Given the description of an element on the screen output the (x, y) to click on. 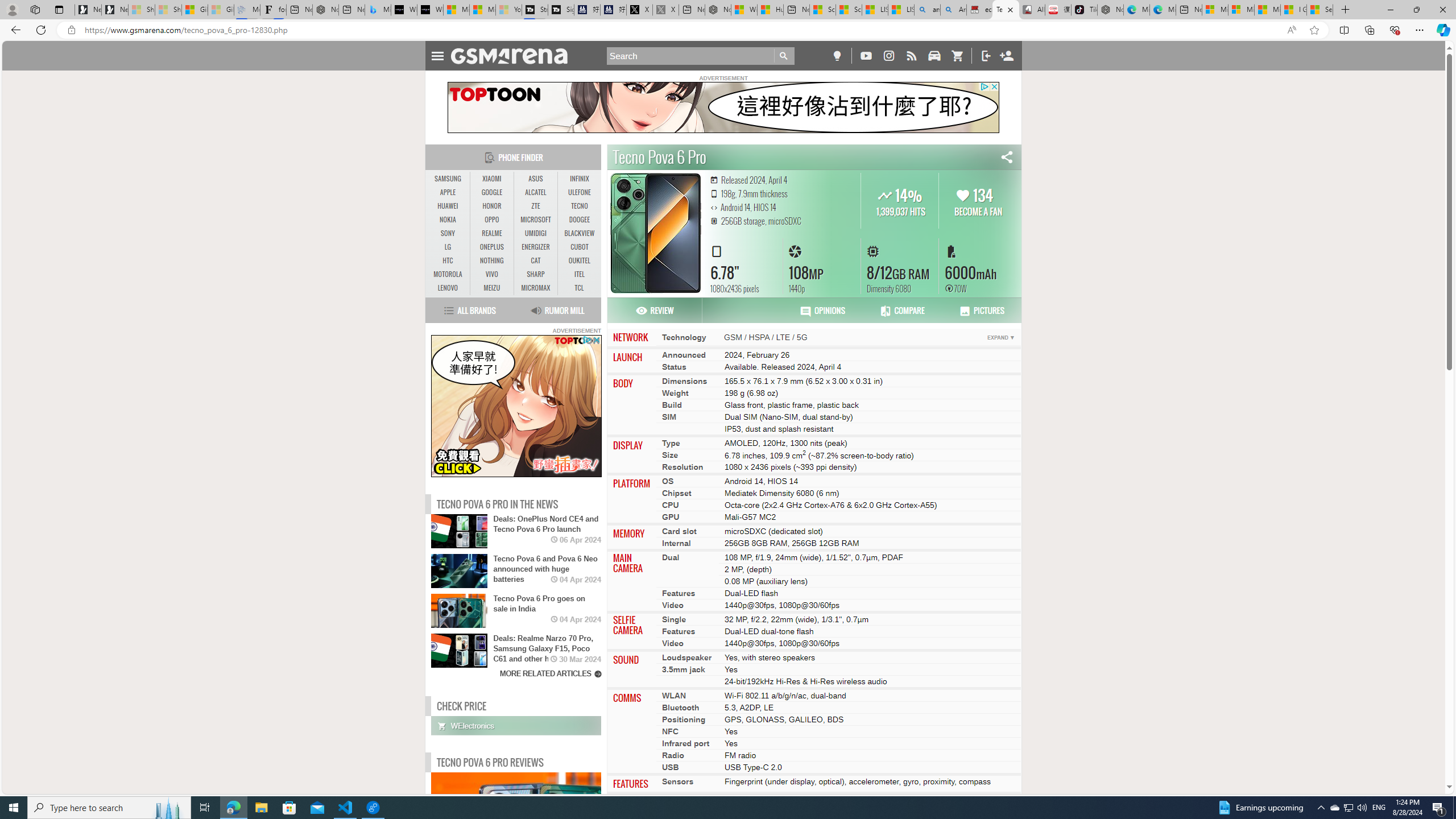
Streaming Coverage | T3 (534, 9)
Technology (684, 336)
ALCATEL (535, 192)
SHARP (535, 273)
